Given the description of an element on the screen output the (x, y) to click on. 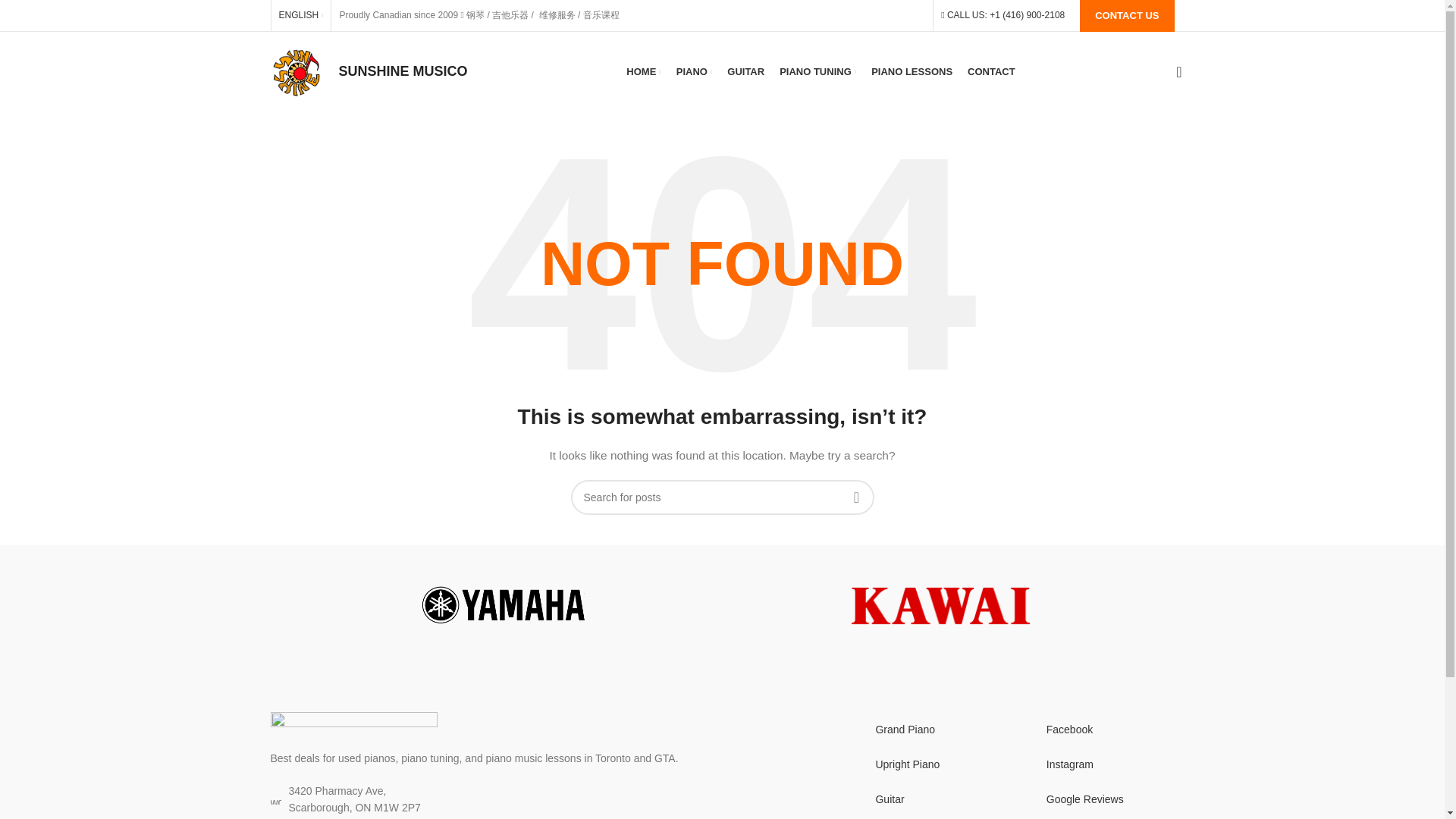
Yamaha (503, 605)
Grand Piano (937, 728)
ENGLISH (301, 15)
Upright Piano (937, 764)
Kawai (940, 605)
SEARCH (855, 497)
Google Reviews (1100, 799)
Guitar (937, 799)
wd-cursor-dark (275, 798)
GUITAR (745, 71)
